Given the description of an element on the screen output the (x, y) to click on. 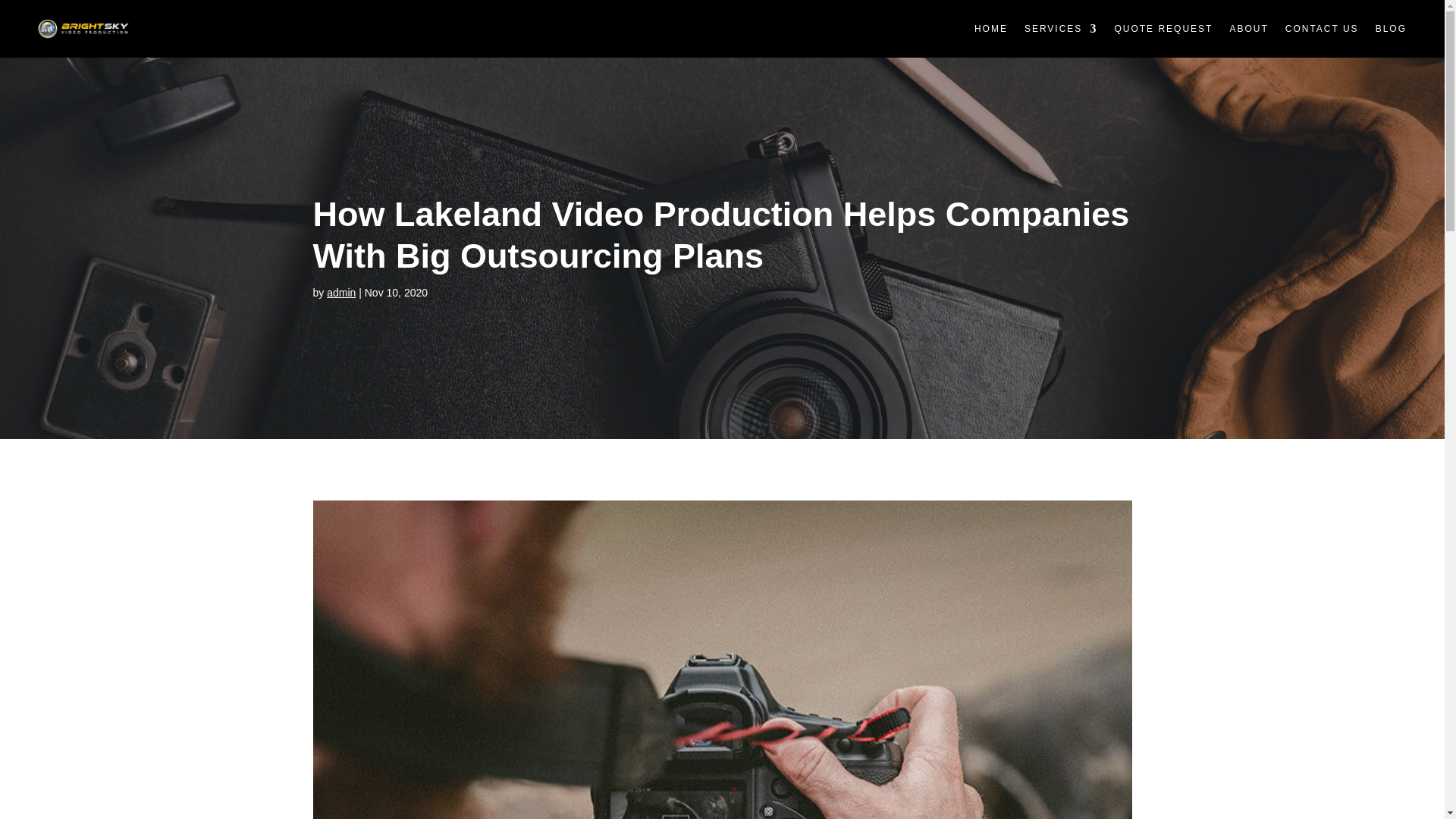
QUOTE REQUEST (1162, 28)
SERVICES (1061, 28)
Posts by admin (340, 292)
admin (340, 292)
CONTACT US (1321, 28)
